Given the description of an element on the screen output the (x, y) to click on. 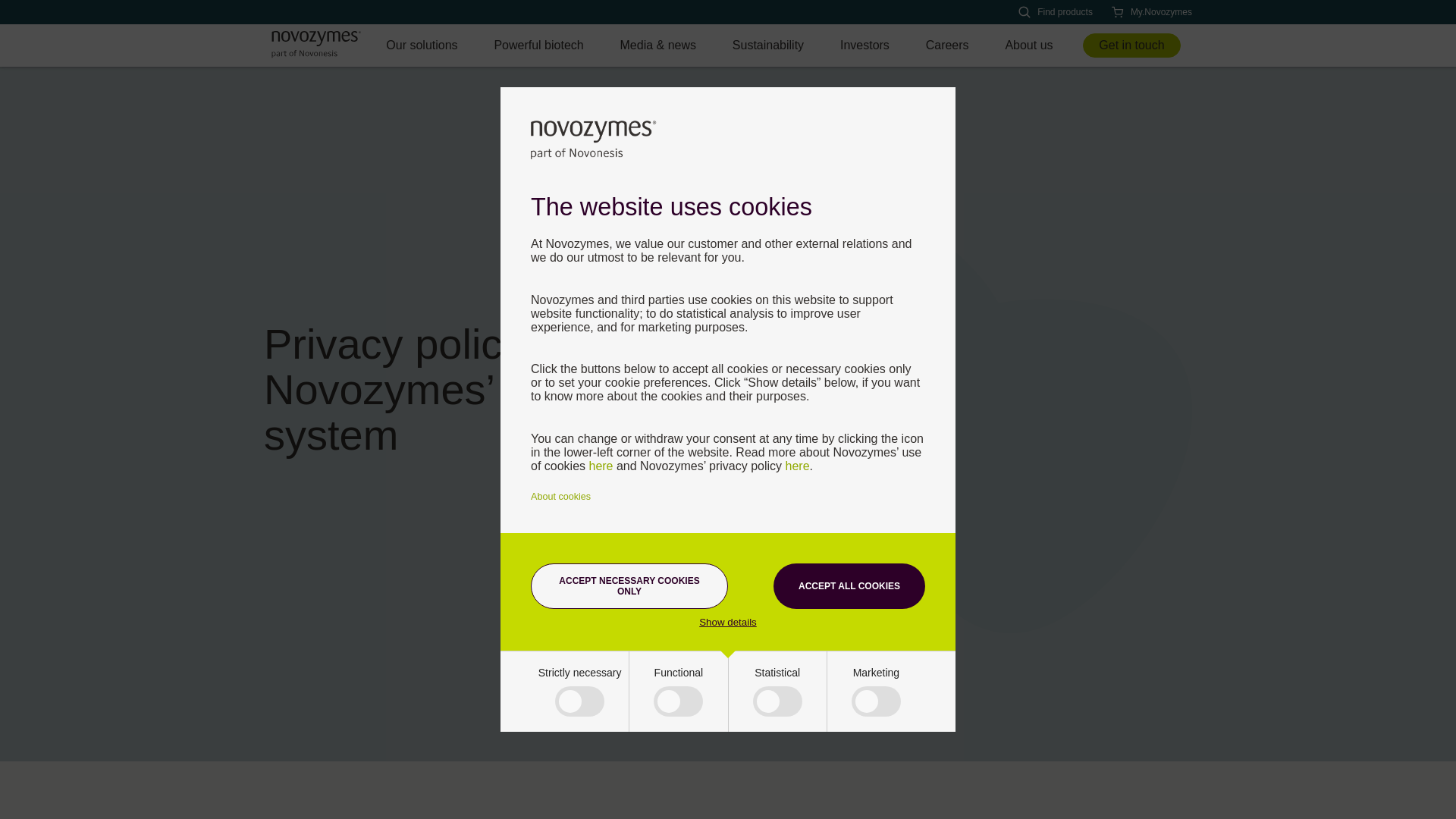
About cookies (561, 496)
here (600, 465)
here (797, 465)
ACCEPT ALL COOKIES (848, 586)
ACCEPT NECESSARY COOKIES ONLY (629, 586)
Show details (727, 622)
